Given the description of an element on the screen output the (x, y) to click on. 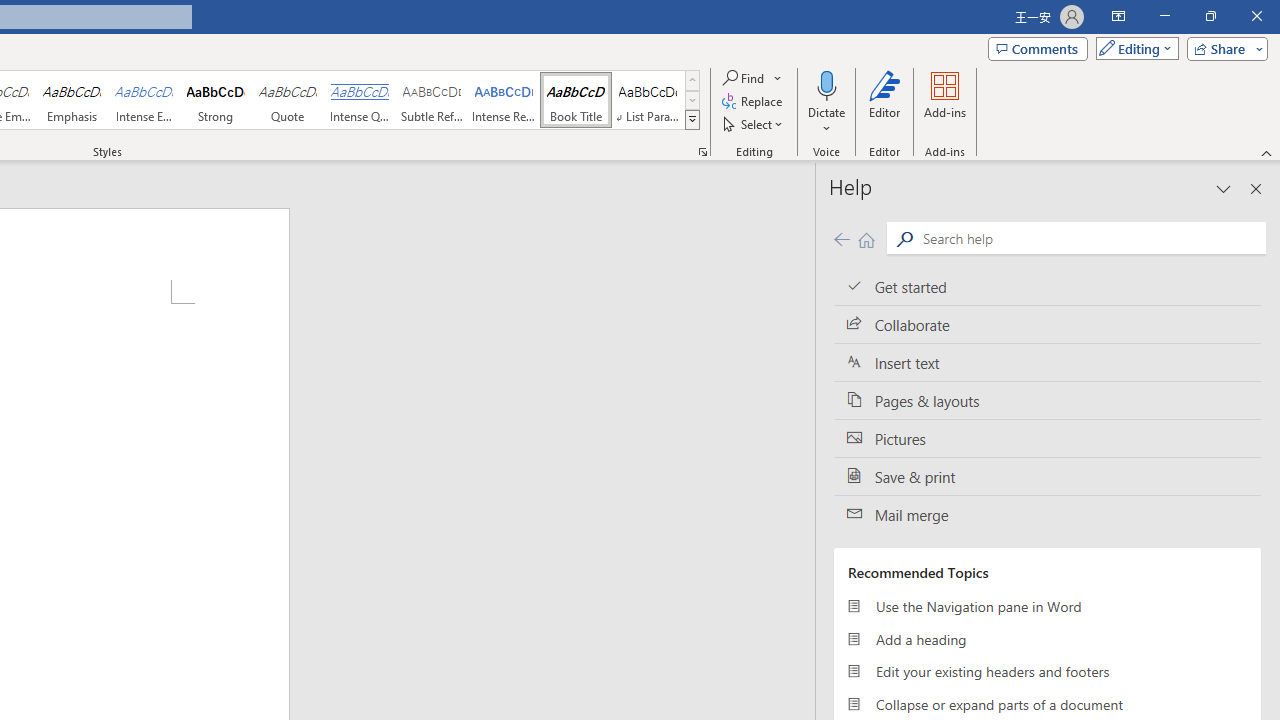
Mail merge (1047, 515)
Replace... (753, 101)
Select (754, 124)
Book Title (575, 100)
Quote (287, 100)
